Given the description of an element on the screen output the (x, y) to click on. 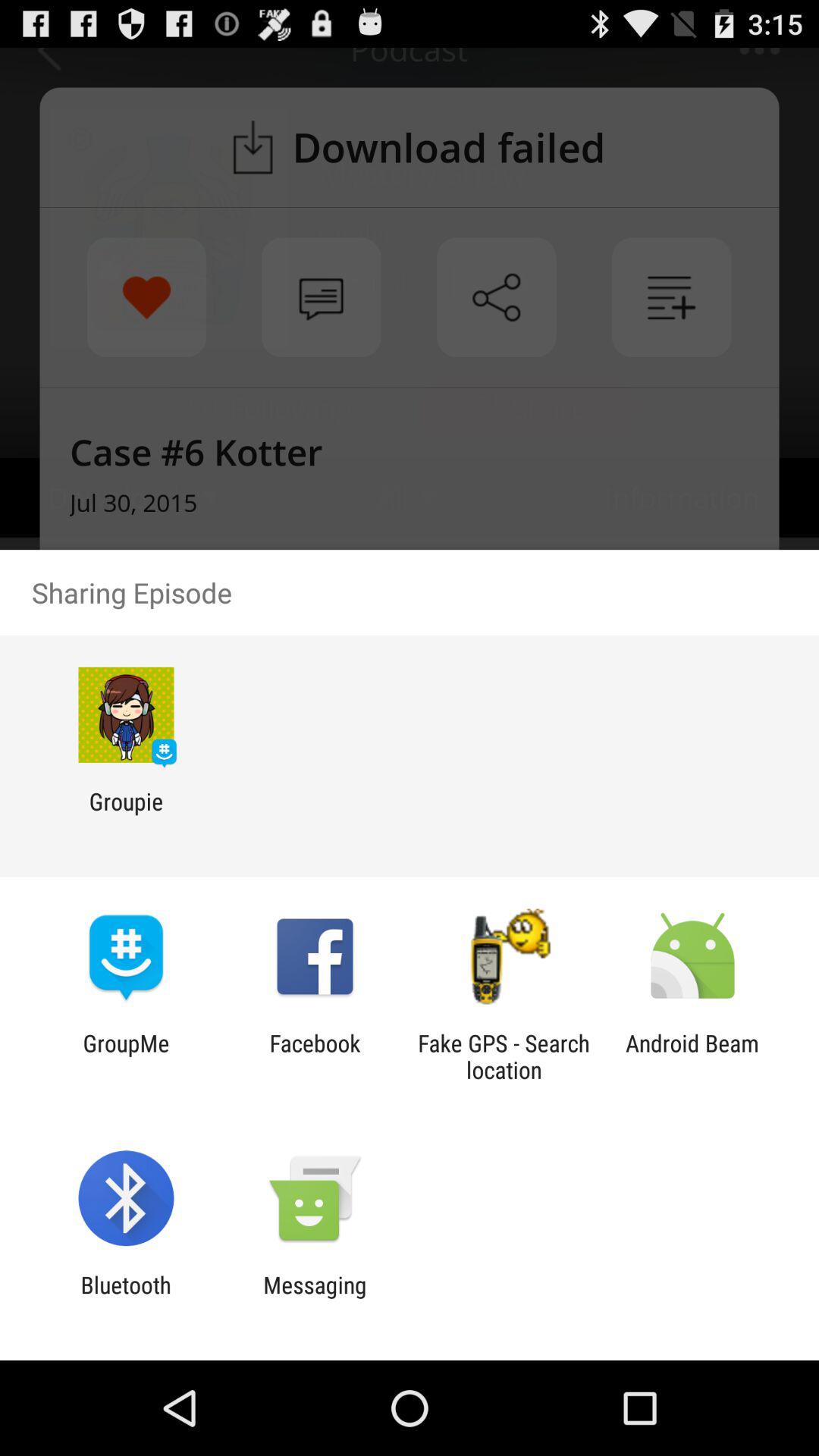
press bluetooth icon (125, 1298)
